Given the description of an element on the screen output the (x, y) to click on. 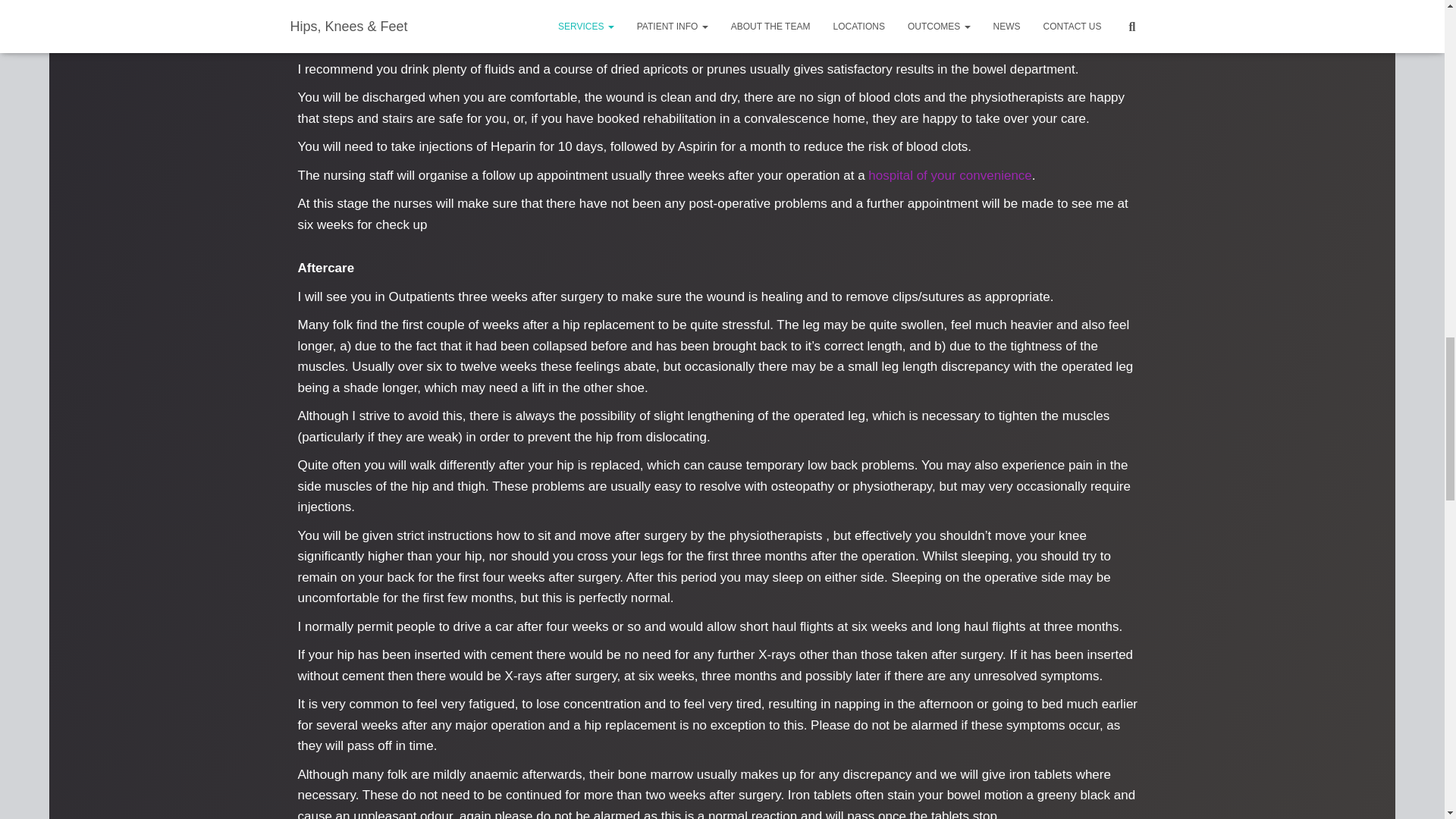
hospital of your convenience (948, 175)
